Given the description of an element on the screen output the (x, y) to click on. 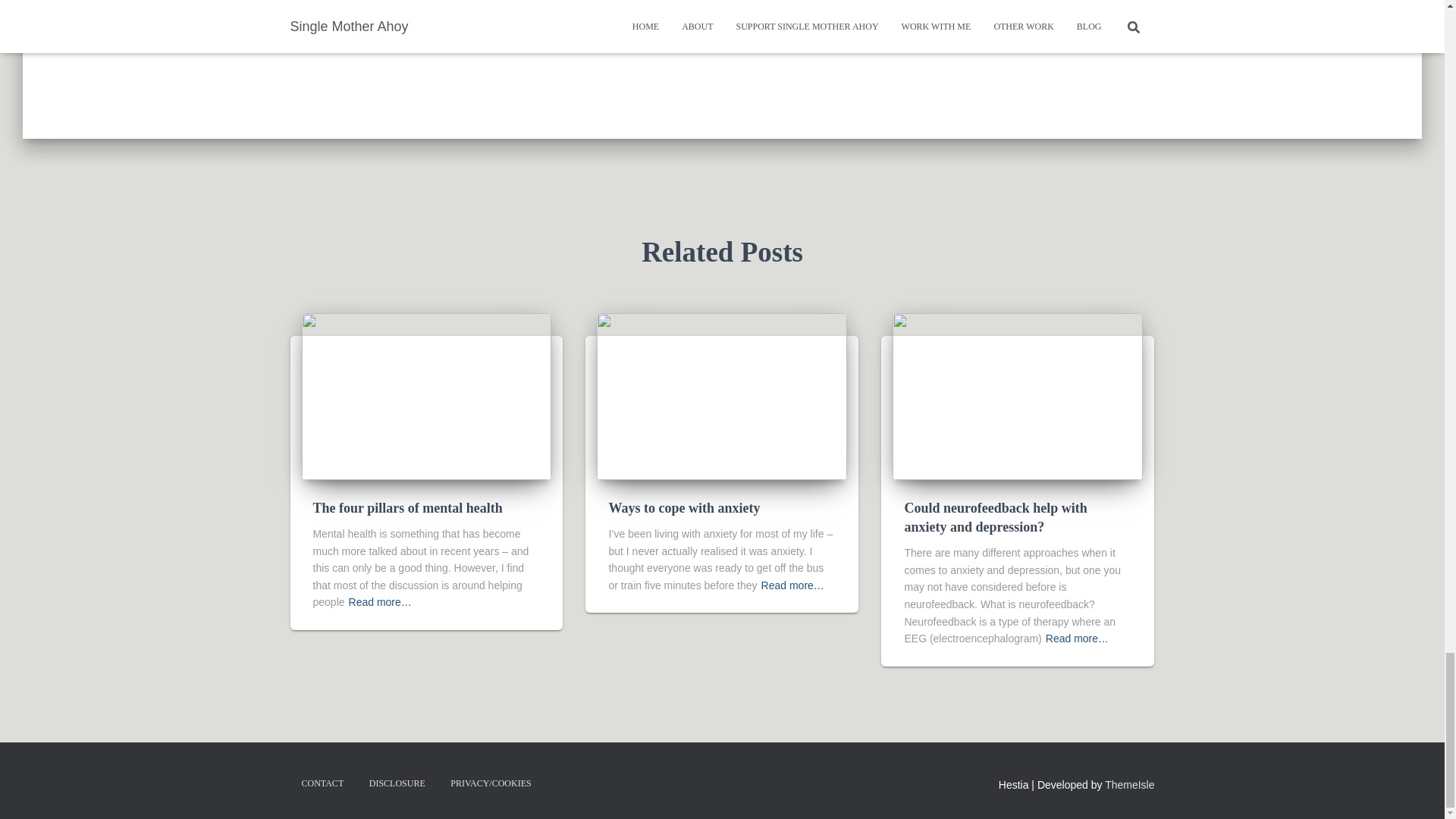
Ways to cope with anxiety (684, 507)
Could neurofeedback help with anxiety and depression? (995, 517)
Learn how your comment data is processed (579, 11)
Could neurofeedback help with anxiety and depression? (1017, 395)
The four pillars of mental health (426, 395)
Ways to cope with anxiety (721, 395)
The four pillars of mental health (407, 507)
